Given the description of an element on the screen output the (x, y) to click on. 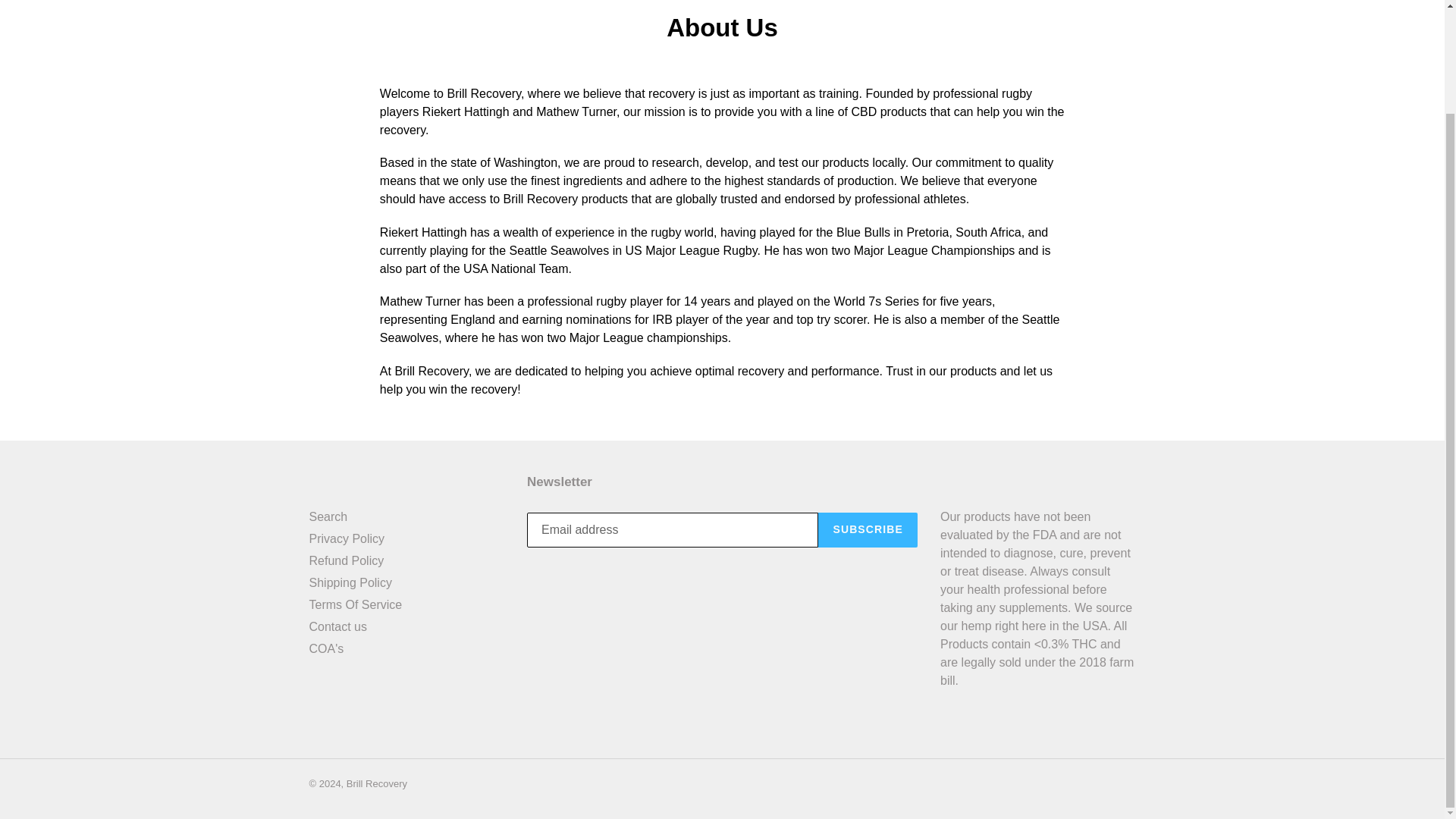
Search (327, 516)
Brill Recovery (376, 783)
SUBSCRIBE (867, 529)
Contact us (337, 626)
Terms Of Service (355, 604)
Shipping Policy (349, 582)
COA's (325, 648)
Privacy Policy (346, 538)
